Given the description of an element on the screen output the (x, y) to click on. 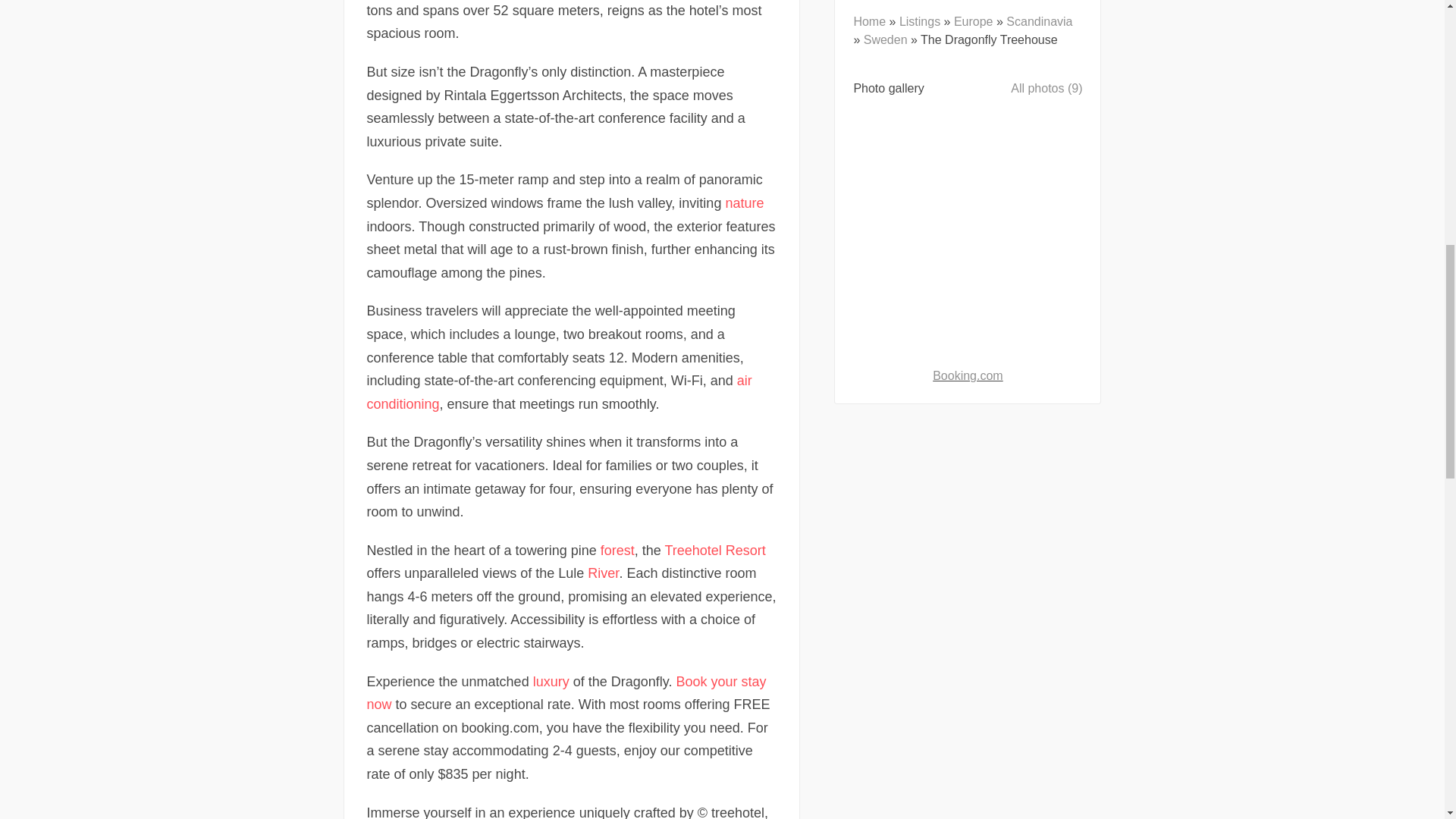
River (603, 572)
air conditioning (559, 392)
luxury (550, 681)
nature (743, 202)
forest (616, 549)
